Given the description of an element on the screen output the (x, y) to click on. 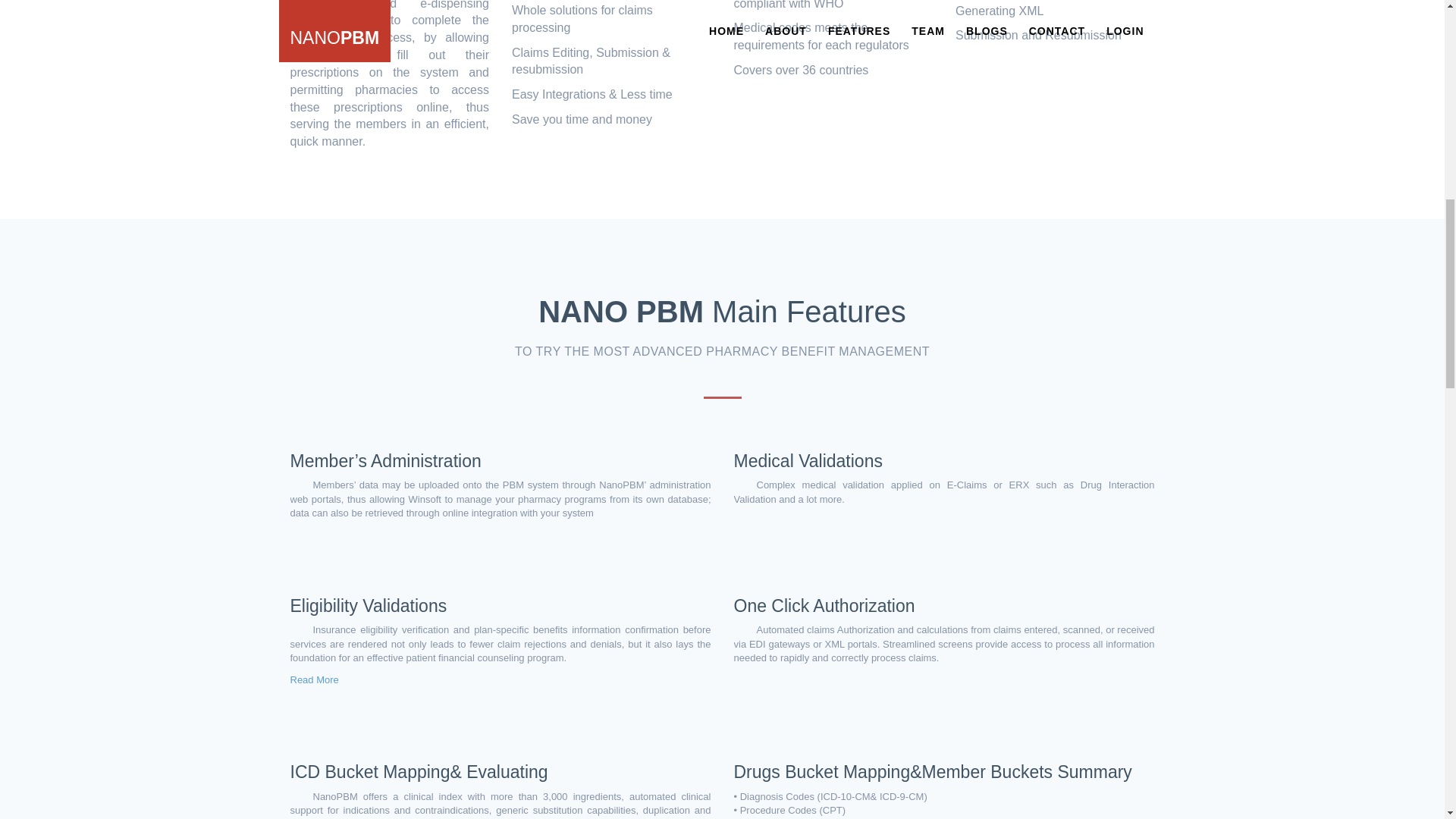
One Click Authorization (824, 605)
Read More (313, 679)
Medical Validations (807, 460)
Eligibility Validations (367, 605)
